Given the description of an element on the screen output the (x, y) to click on. 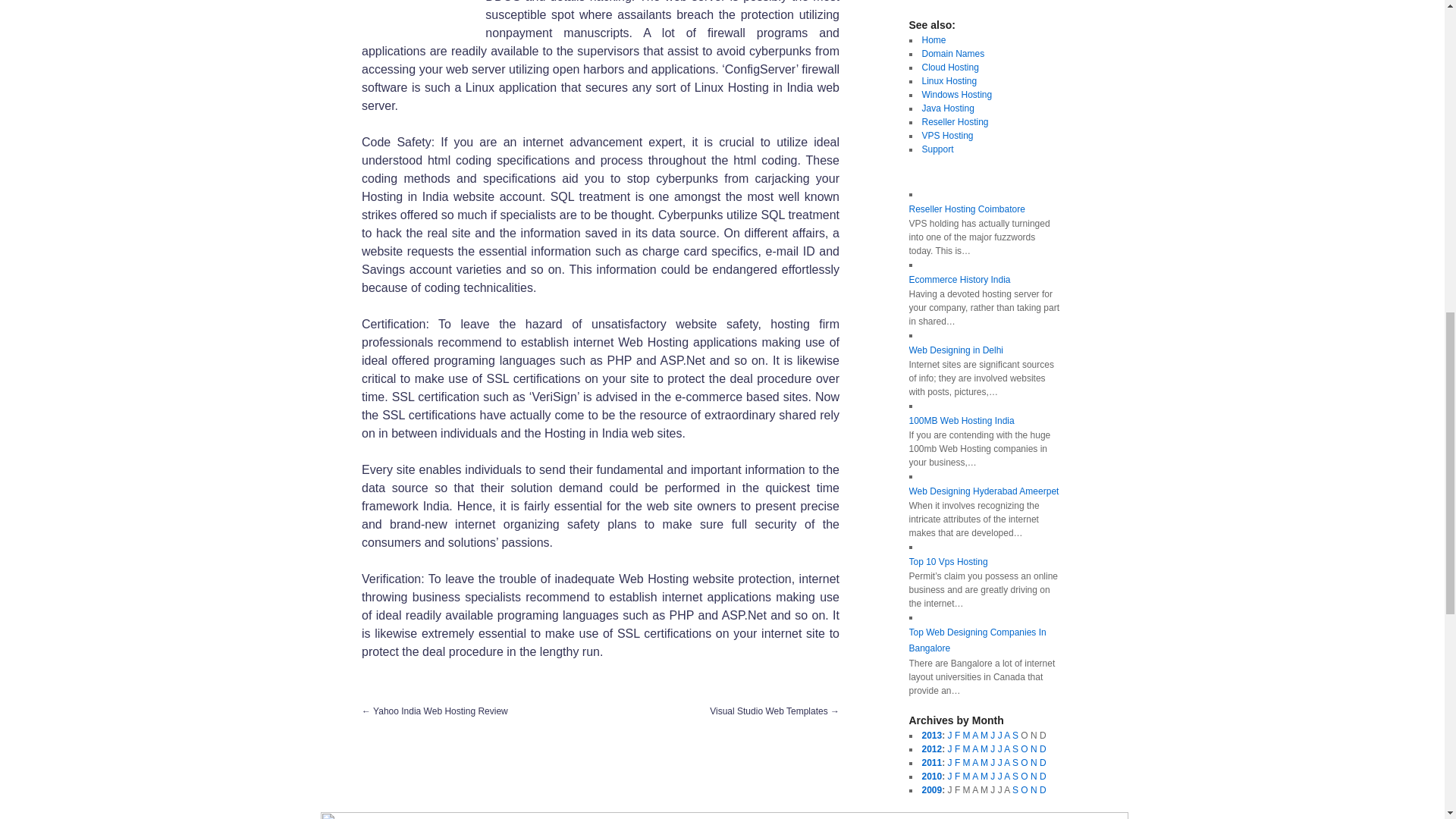
Web Designing Hyderabad Ameerpet (983, 491)
Cloud Hosting (949, 67)
Permalink to Ecommerce History India (959, 279)
Linux Hosting (948, 81)
Web Designing in Delhi (955, 349)
Permalink to Top Web Designing Companies In Bangalore (976, 640)
Home (933, 40)
Permalink to 100MB Web Hosting India (960, 420)
Domain Names (953, 53)
Permalink to Top 10 Vps Hosting (947, 561)
